Given the description of an element on the screen output the (x, y) to click on. 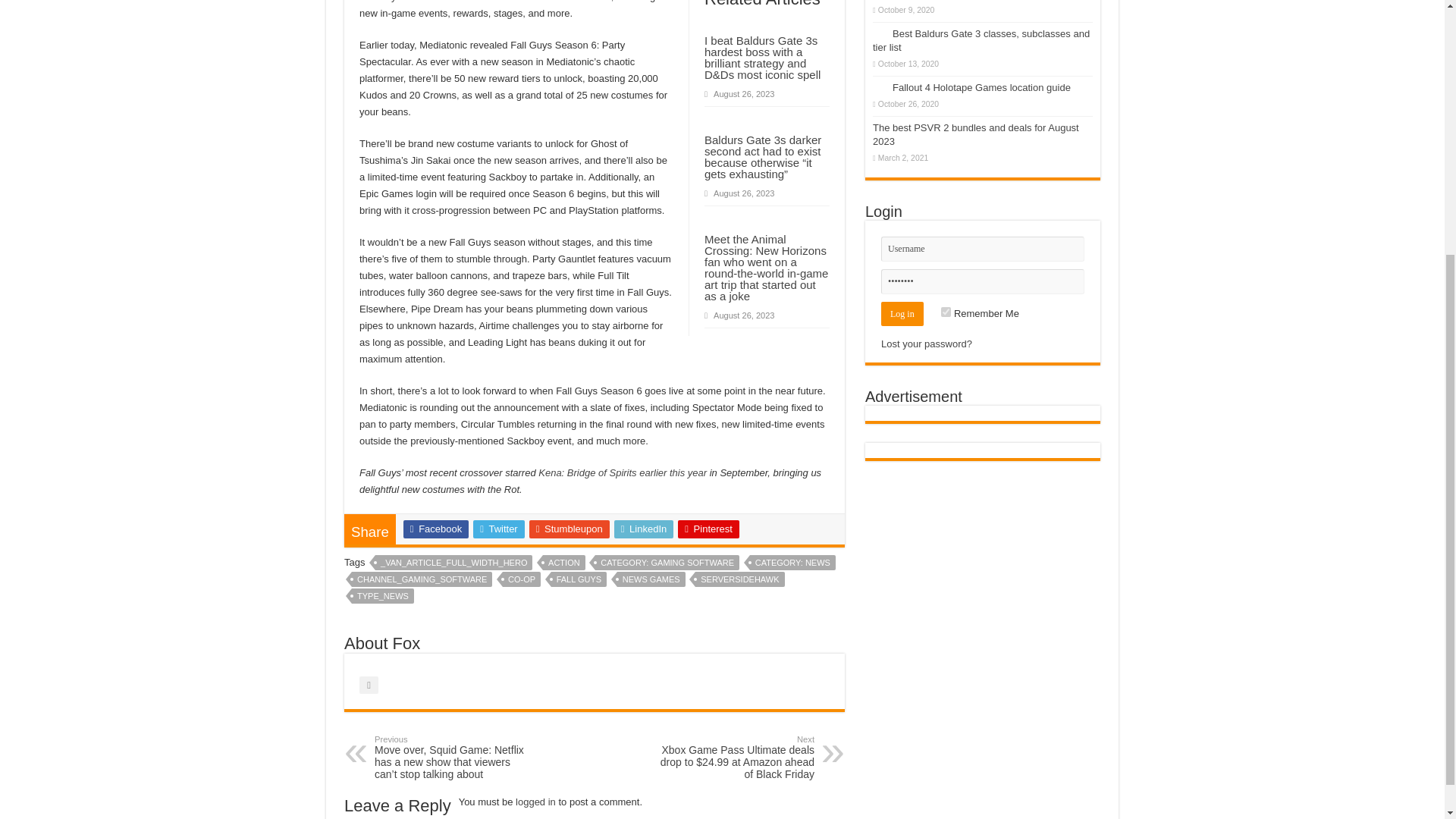
forever (945, 311)
Username (982, 248)
Password (982, 281)
Log in (901, 313)
